Given the description of an element on the screen output the (x, y) to click on. 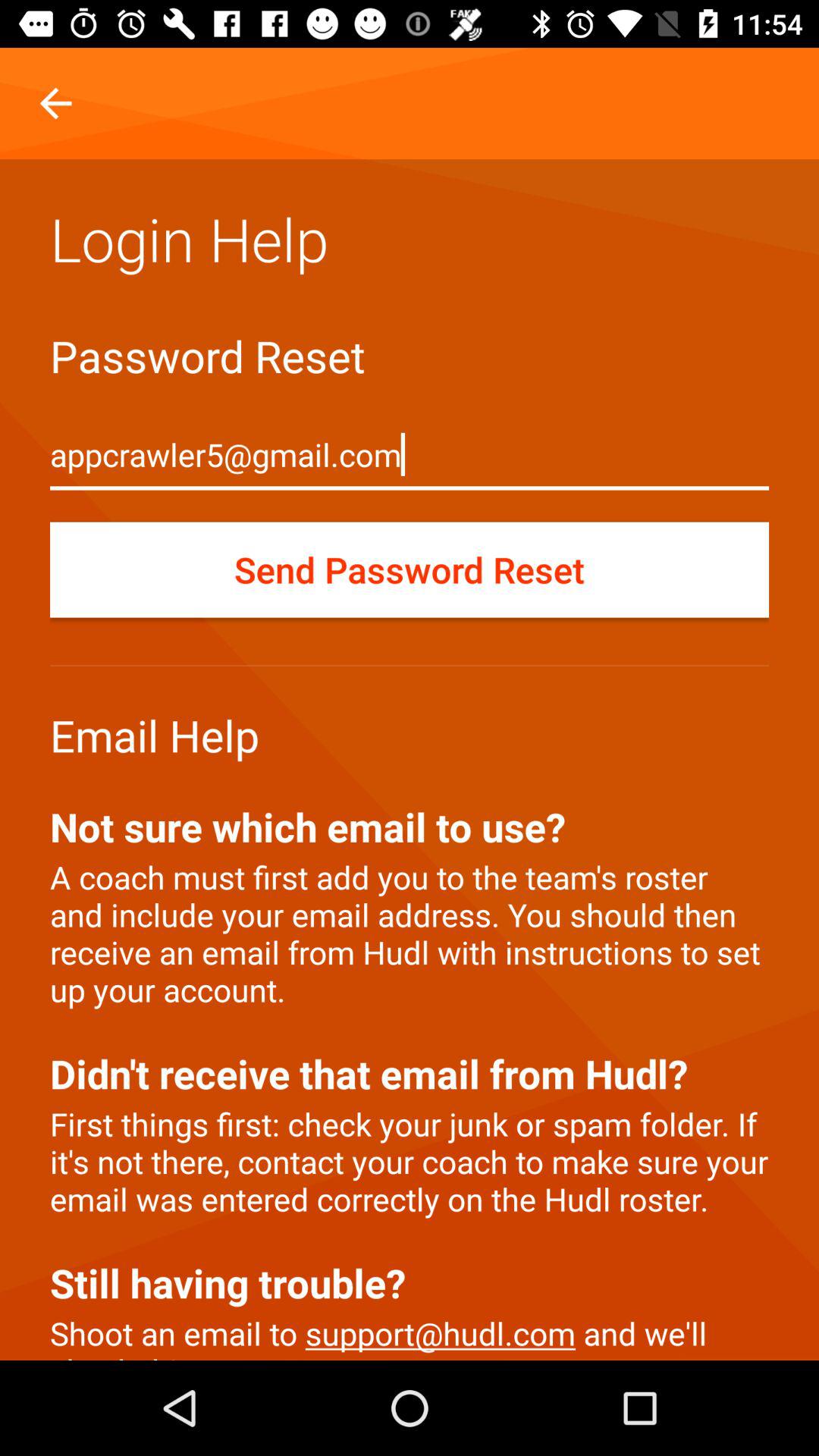
3rd and 4th line of text below the text not sure which email to use (409, 991)
